Given the description of an element on the screen output the (x, y) to click on. 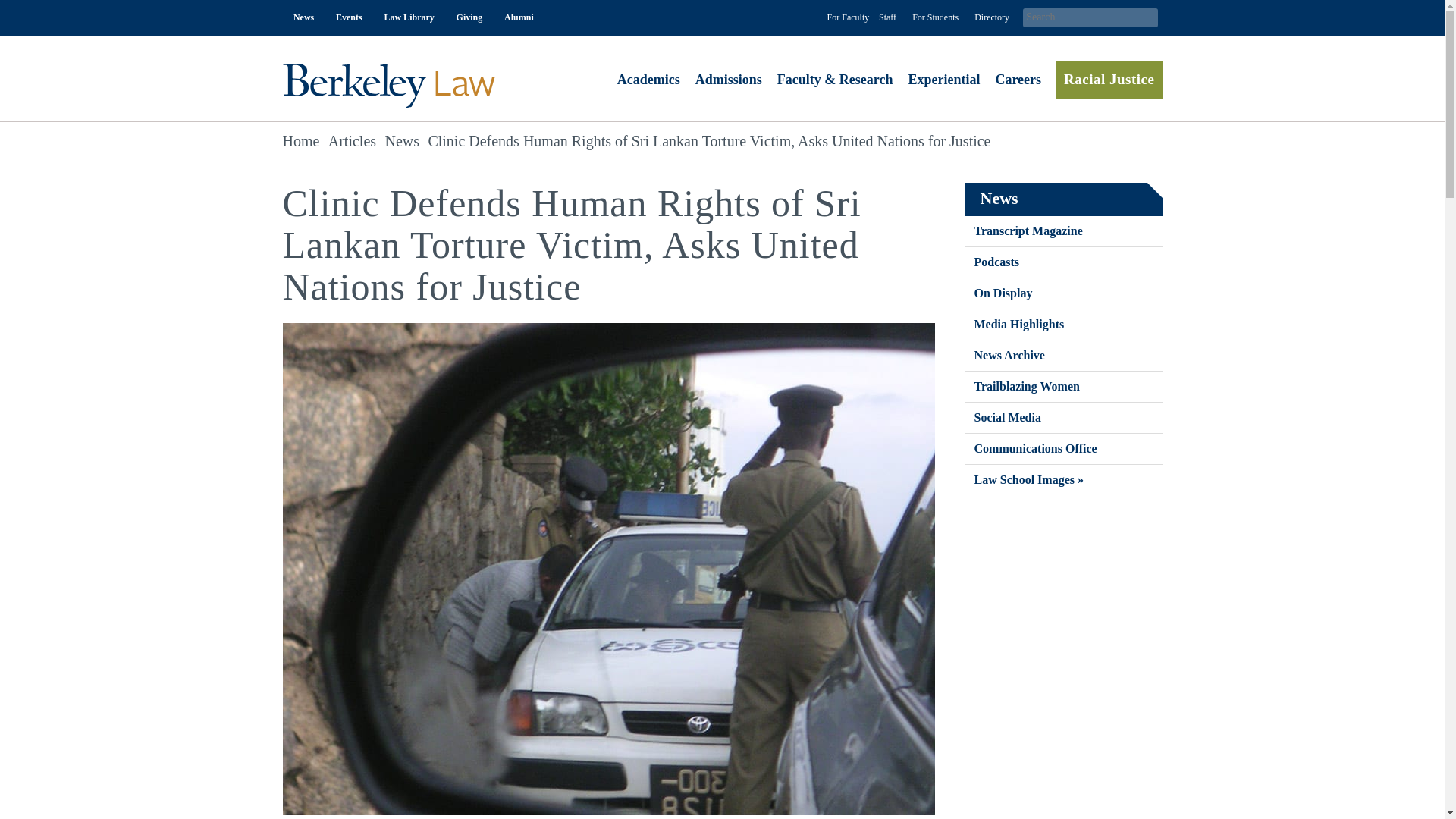
News (303, 18)
Alumni (518, 18)
Giving (469, 18)
For Students (936, 18)
Law Library (408, 18)
Events (348, 18)
